Given the description of an element on the screen output the (x, y) to click on. 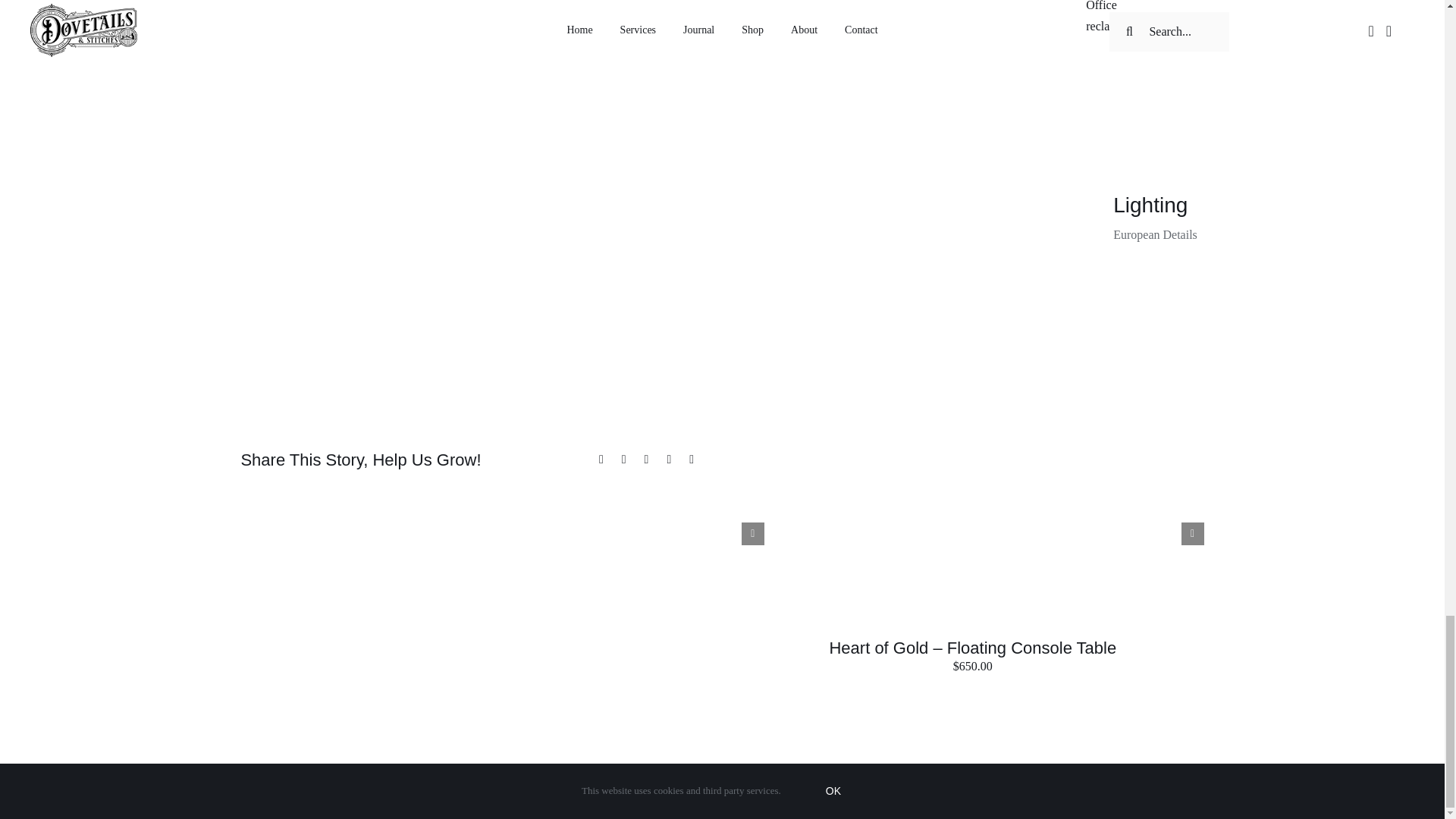
Lighting Products (1253, 218)
